Given the description of an element on the screen output the (x, y) to click on. 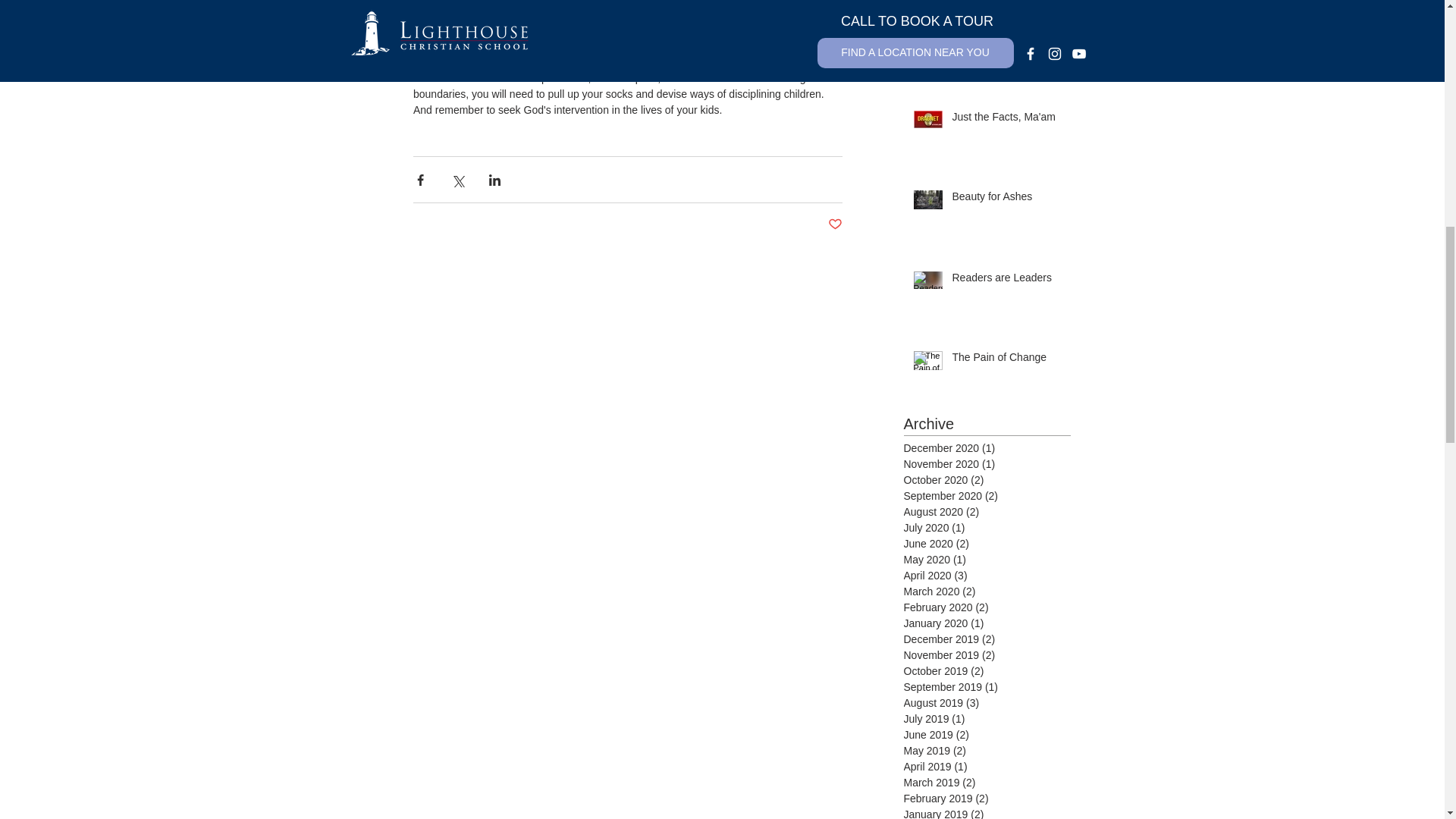
Post not marked as liked (835, 224)
Readers are Leaders (1006, 281)
Just the Facts, Ma'am (1006, 120)
Serving vs Entitlement (1006, 40)
Beauty for Ashes (1006, 199)
